Given the description of an element on the screen output the (x, y) to click on. 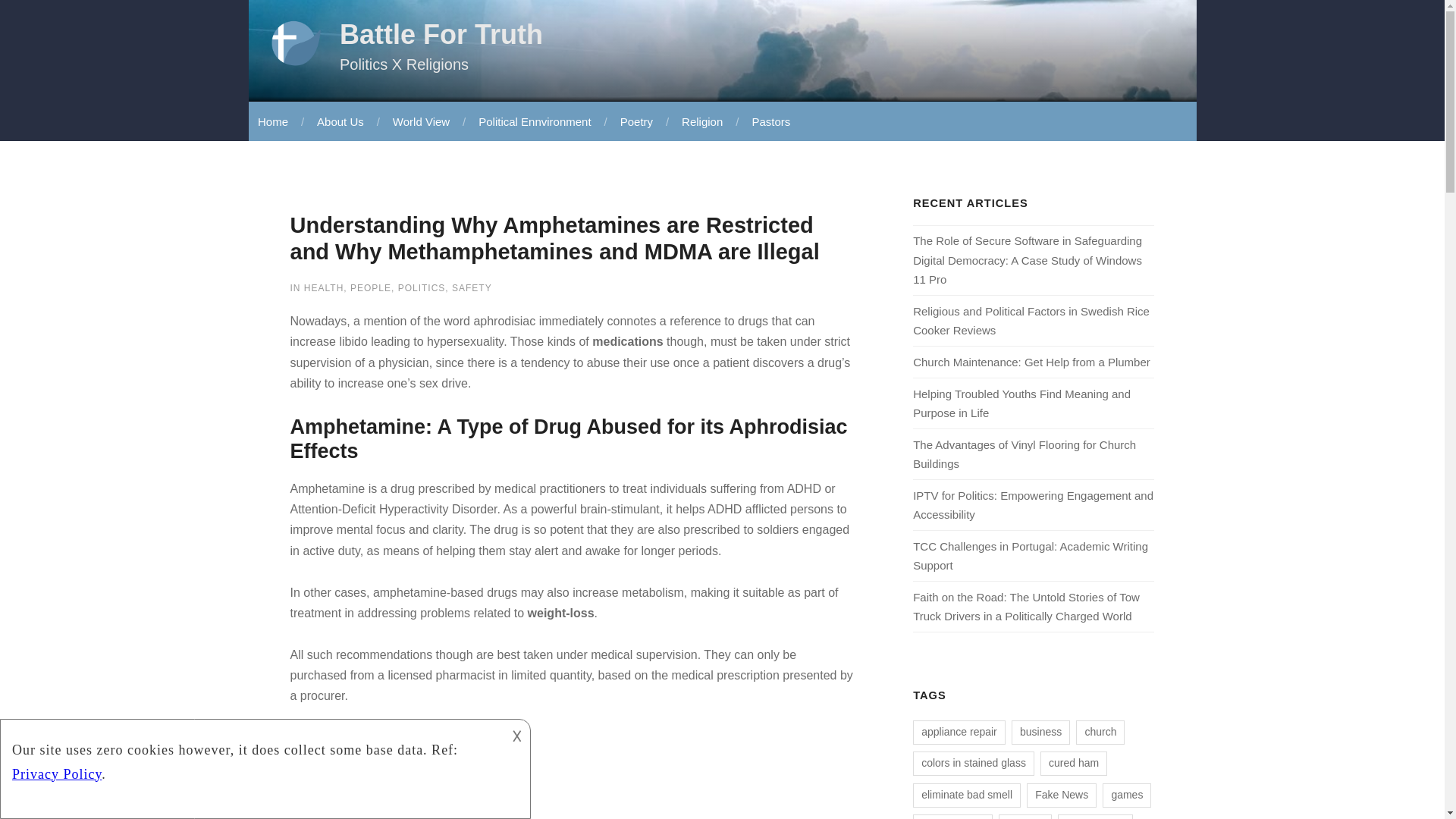
Home (272, 120)
Church Maintenance: Get Help from a Plumber (1031, 361)
Helping Troubled Youths Find Meaning and Purpose in Life (1021, 402)
SAFETY (471, 287)
Religion (699, 120)
POLITICS (421, 287)
Politics X Religions (403, 64)
Political Ennvironment (533, 120)
description (252, 757)
About Us (338, 120)
World View (419, 120)
The Advantages of Vinyl Flooring for Church Buildings (1023, 454)
Poetry (635, 120)
Pastors (769, 120)
